Given the description of an element on the screen output the (x, y) to click on. 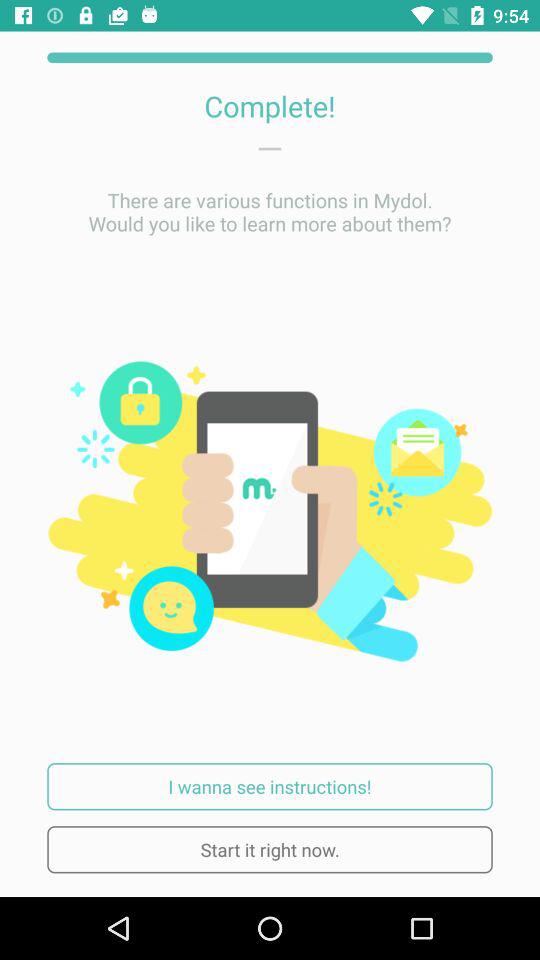
tap item above the start it right (269, 786)
